Given the description of an element on the screen output the (x, y) to click on. 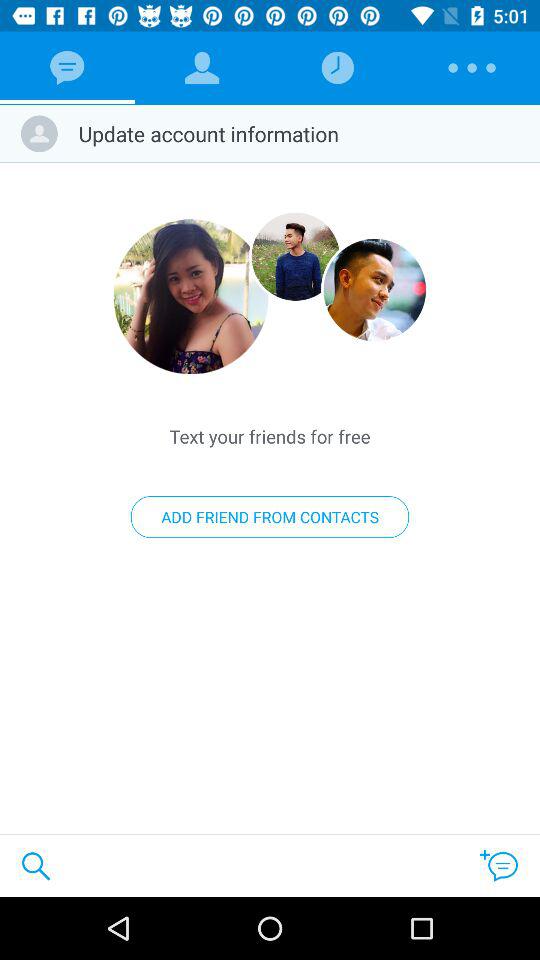
turn off item below the text your friends (269, 517)
